Given the description of an element on the screen output the (x, y) to click on. 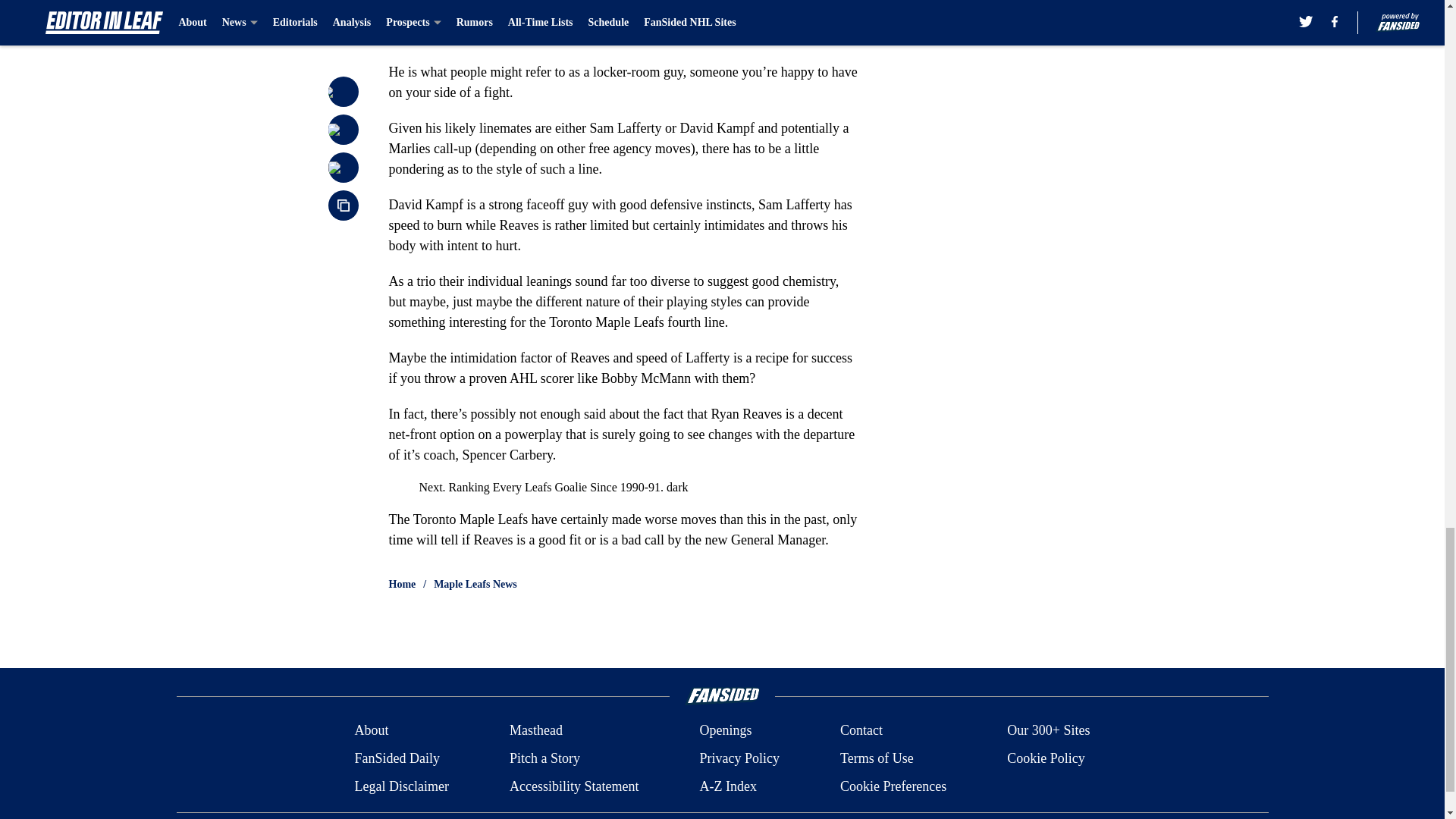
A-Z Index (726, 786)
FanSided Daily (396, 758)
Accessibility Statement (574, 786)
Openings (724, 730)
Legal Disclaimer (400, 786)
Cookie Policy (1045, 758)
About (370, 730)
Terms of Use (877, 758)
Home (401, 584)
Privacy Policy (738, 758)
Masthead (535, 730)
Maple Leafs News (474, 584)
Contact (861, 730)
Pitch a Story (544, 758)
